Given the description of an element on the screen output the (x, y) to click on. 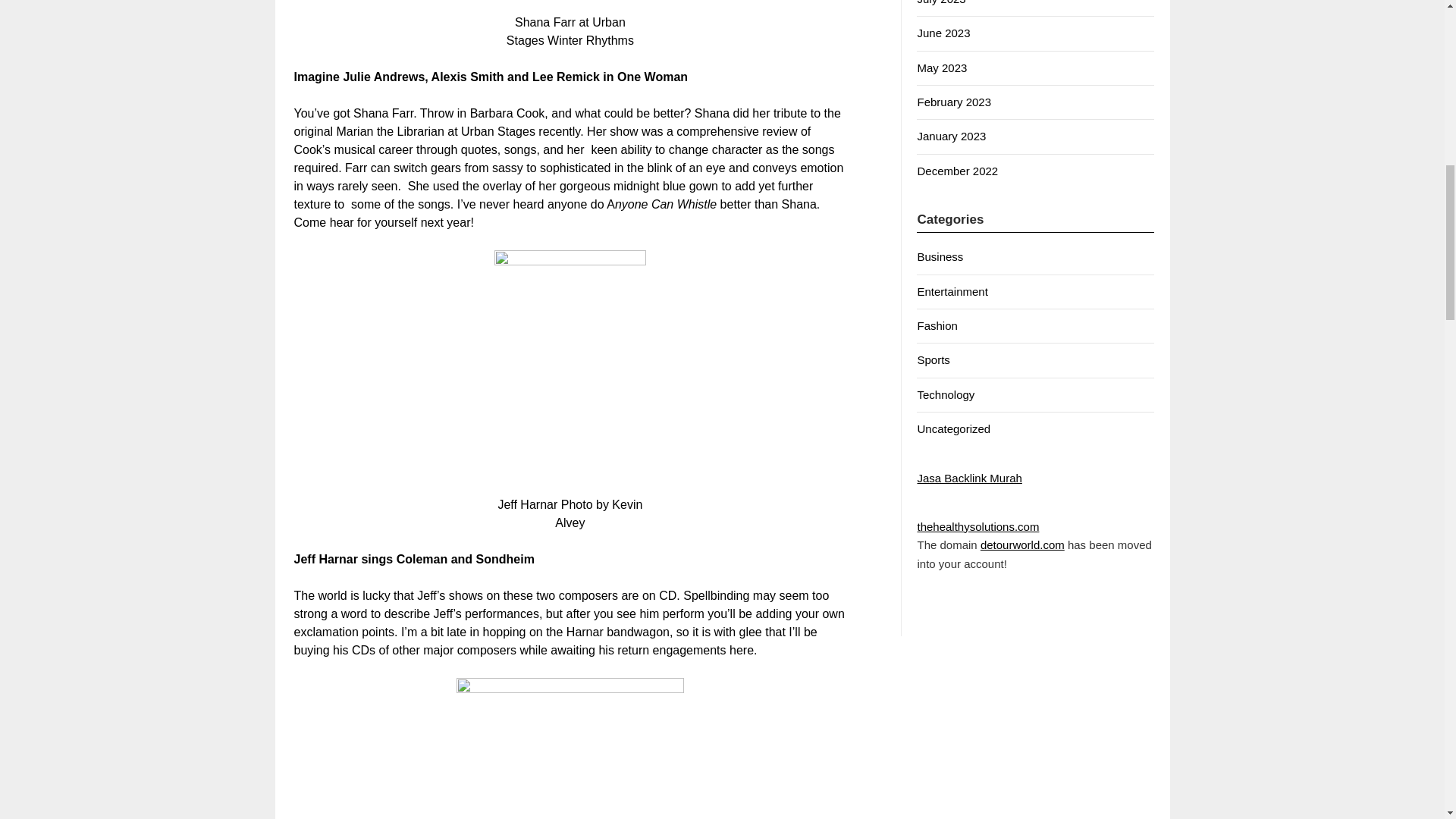
June 2023 (943, 32)
February 2023 (954, 101)
May 2023 (941, 67)
Business (939, 256)
January 2023 (951, 135)
July 2023 (941, 2)
December 2022 (957, 170)
